Given the description of an element on the screen output the (x, y) to click on. 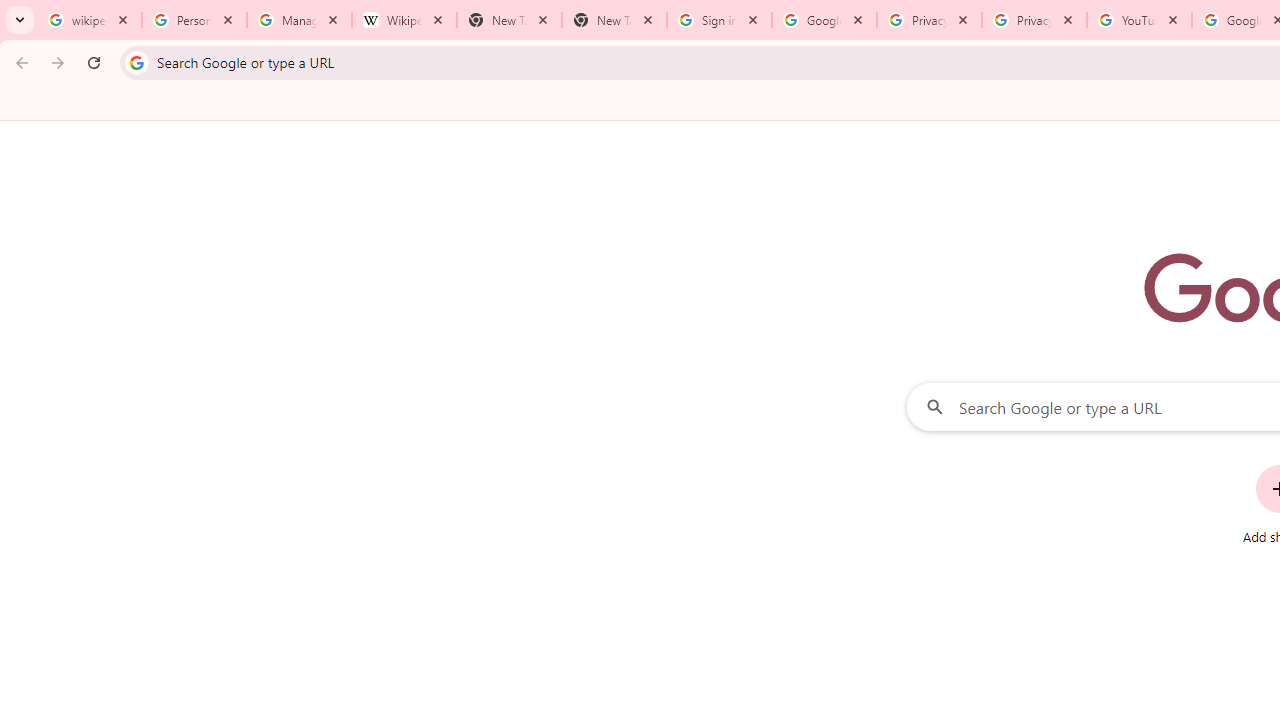
Manage your Location History - Google Search Help (299, 20)
New Tab (613, 20)
